Given the description of an element on the screen output the (x, y) to click on. 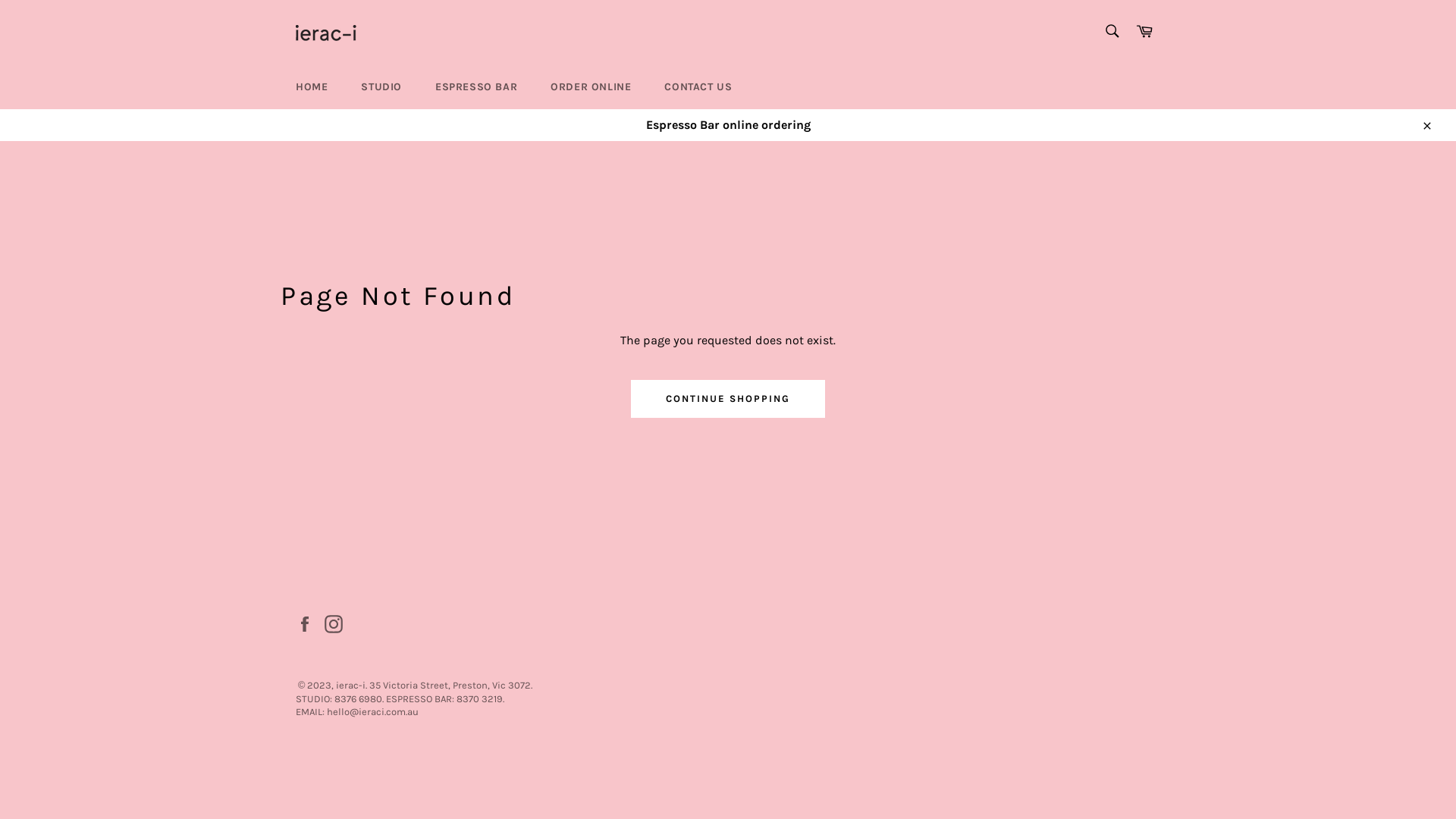
Search Element type: text (1111, 31)
Facebook Element type: text (308, 624)
ORDER ONLINE Element type: text (590, 86)
Cart Element type: text (1144, 32)
HOME Element type: text (311, 86)
CONTINUE SHOPPING Element type: text (727, 398)
Instagram Element type: text (337, 624)
hello@ieraci.com.au Element type: text (372, 711)
CONTACT US Element type: text (697, 86)
STUDIO Element type: text (381, 86)
ESPRESSO BAR Element type: text (476, 86)
Close Element type: text (1425, 125)
